Given the description of an element on the screen output the (x, y) to click on. 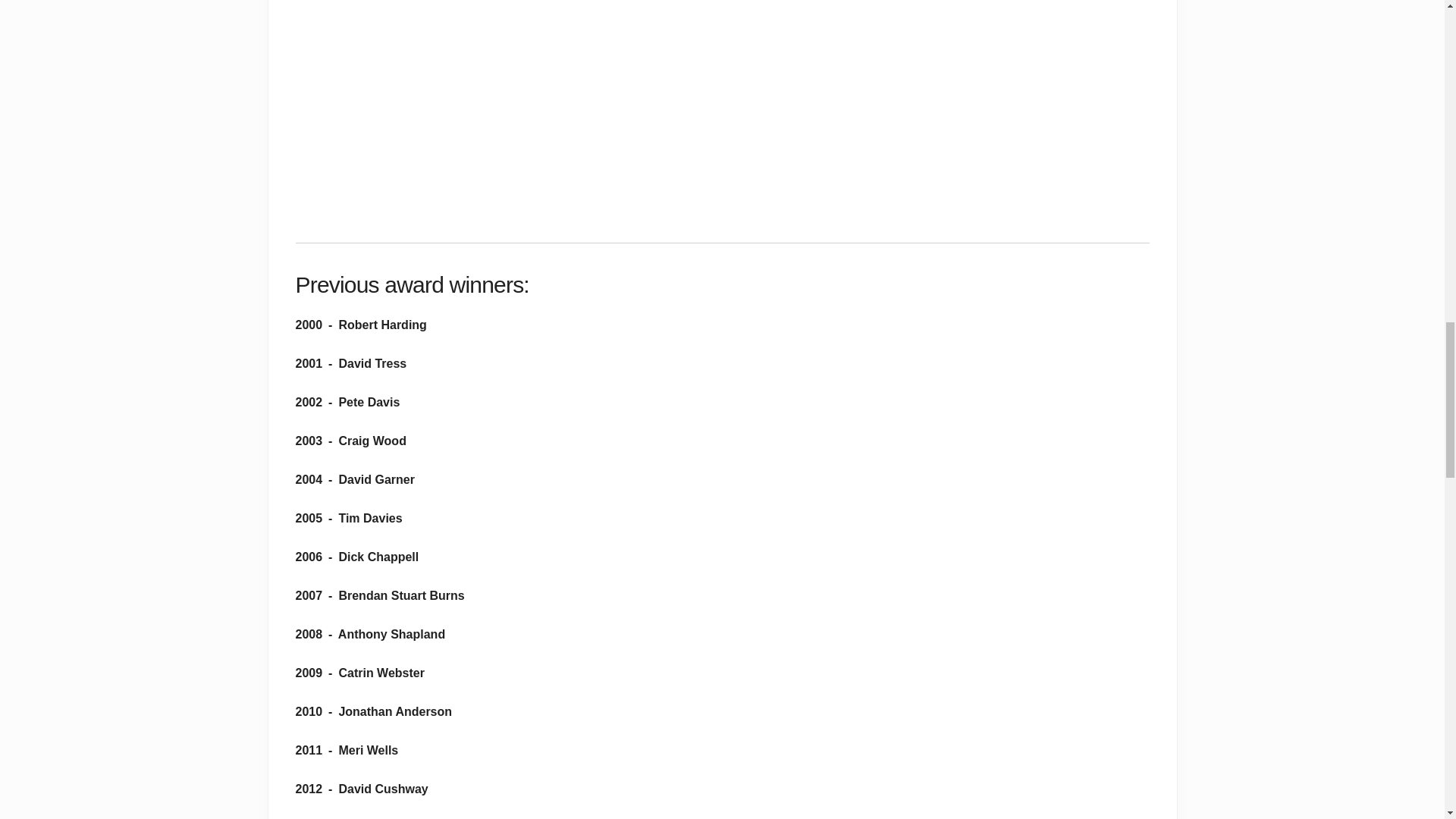
Meri Wells: Wakelin Award Recipient 2011 (485, 106)
